Given the description of an element on the screen output the (x, y) to click on. 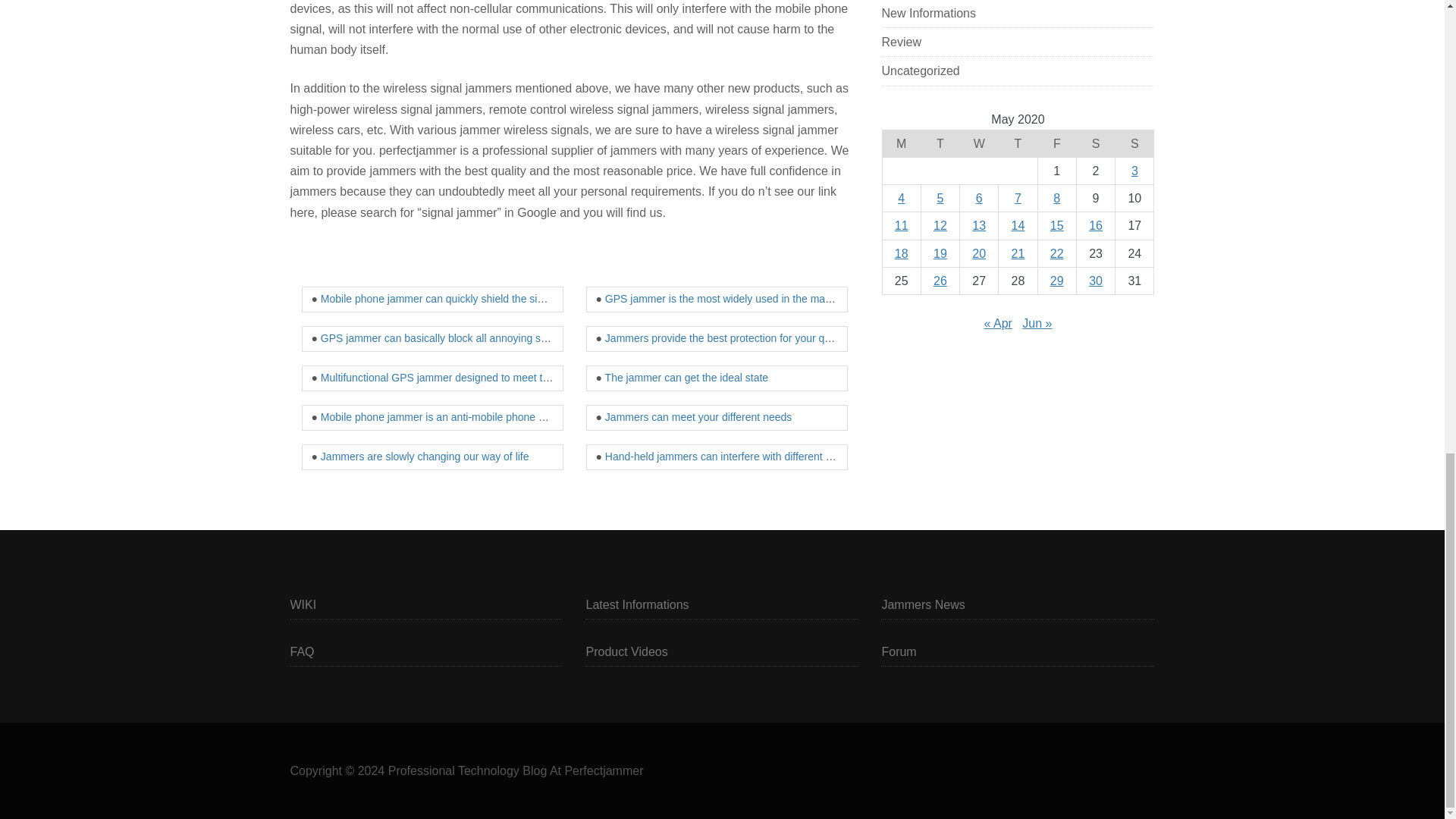
GPS jammer is the most widely used in the market (724, 298)
Jammers can meet your different needs (698, 417)
Friday (1055, 143)
Mobile phone jammer is an anti-mobile phone signal device (459, 417)
Wednesday (978, 143)
The jammer can get the ideal state (686, 377)
Monday (901, 143)
Jammers can meet your different needs (698, 417)
Mobile phone jammer can quickly shield the signal (438, 298)
GPS jammer can basically block all annoying signals (444, 337)
GPS jammer is the most widely used in the market (724, 298)
